Given the description of an element on the screen output the (x, y) to click on. 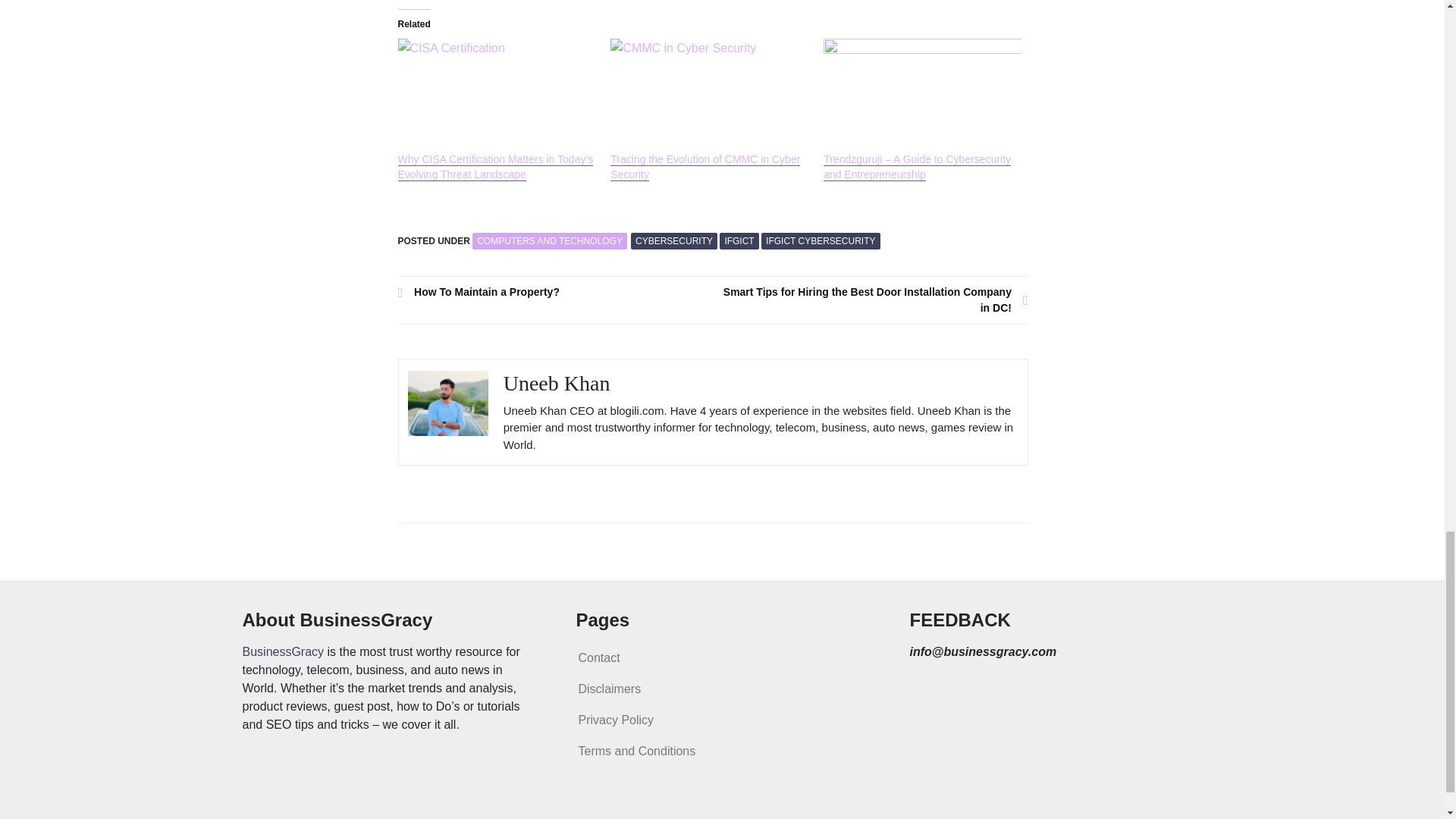
CYBERSECURITY (673, 240)
How To Maintain a Property? (555, 292)
Tracing the Evolution of CMMC in Cyber Security (704, 166)
IFGICT CYBERSECURITY (820, 240)
IFGICT (738, 240)
Tracing the Evolution of CMMC in Cyber Security (709, 94)
Tracing the Evolution of CMMC in Cyber Security (704, 166)
COMPUTERS AND TECHNOLOGY (549, 240)
